Given the description of an element on the screen output the (x, y) to click on. 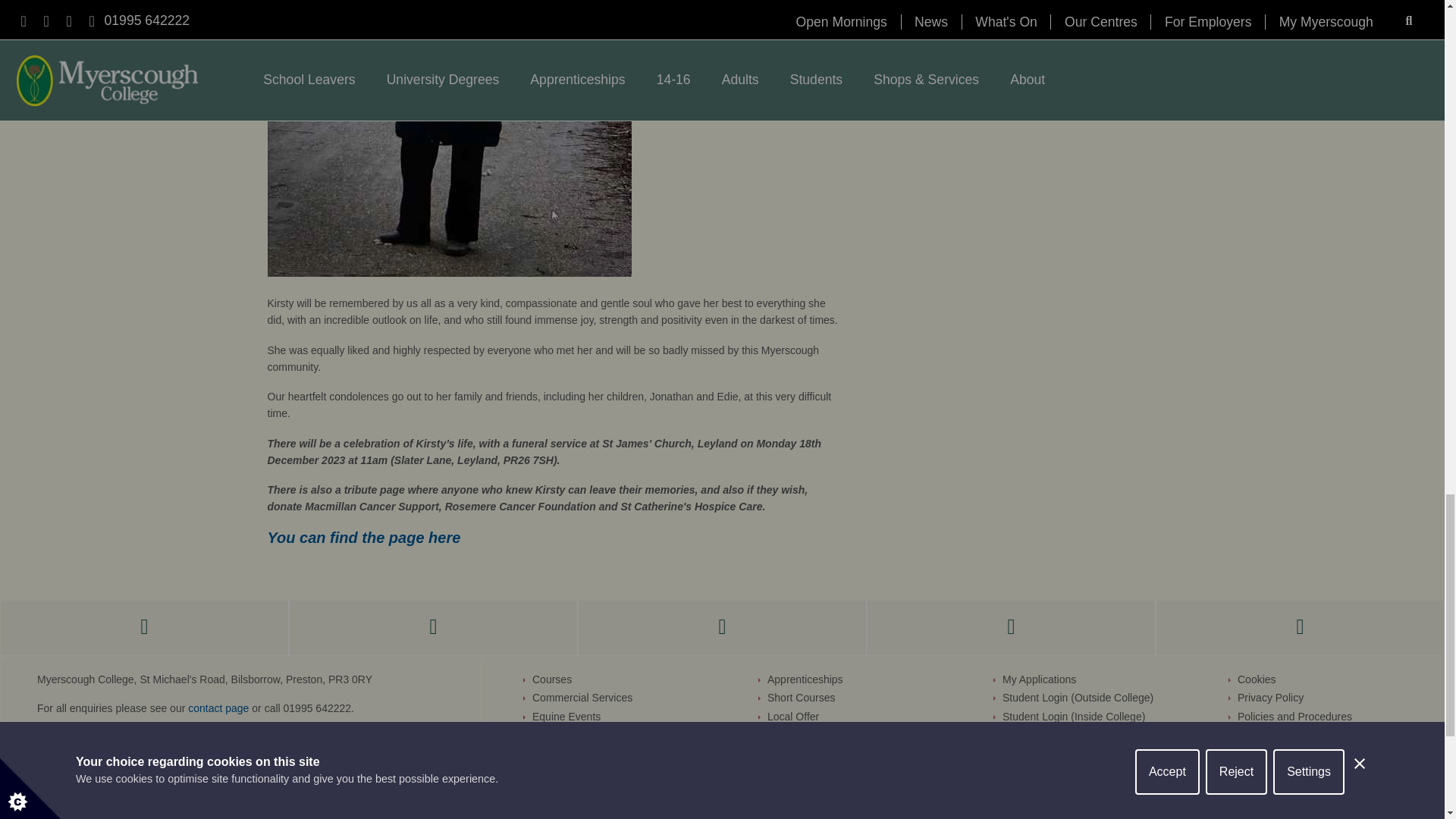
Get in touch (217, 707)
